Given the description of an element on the screen output the (x, y) to click on. 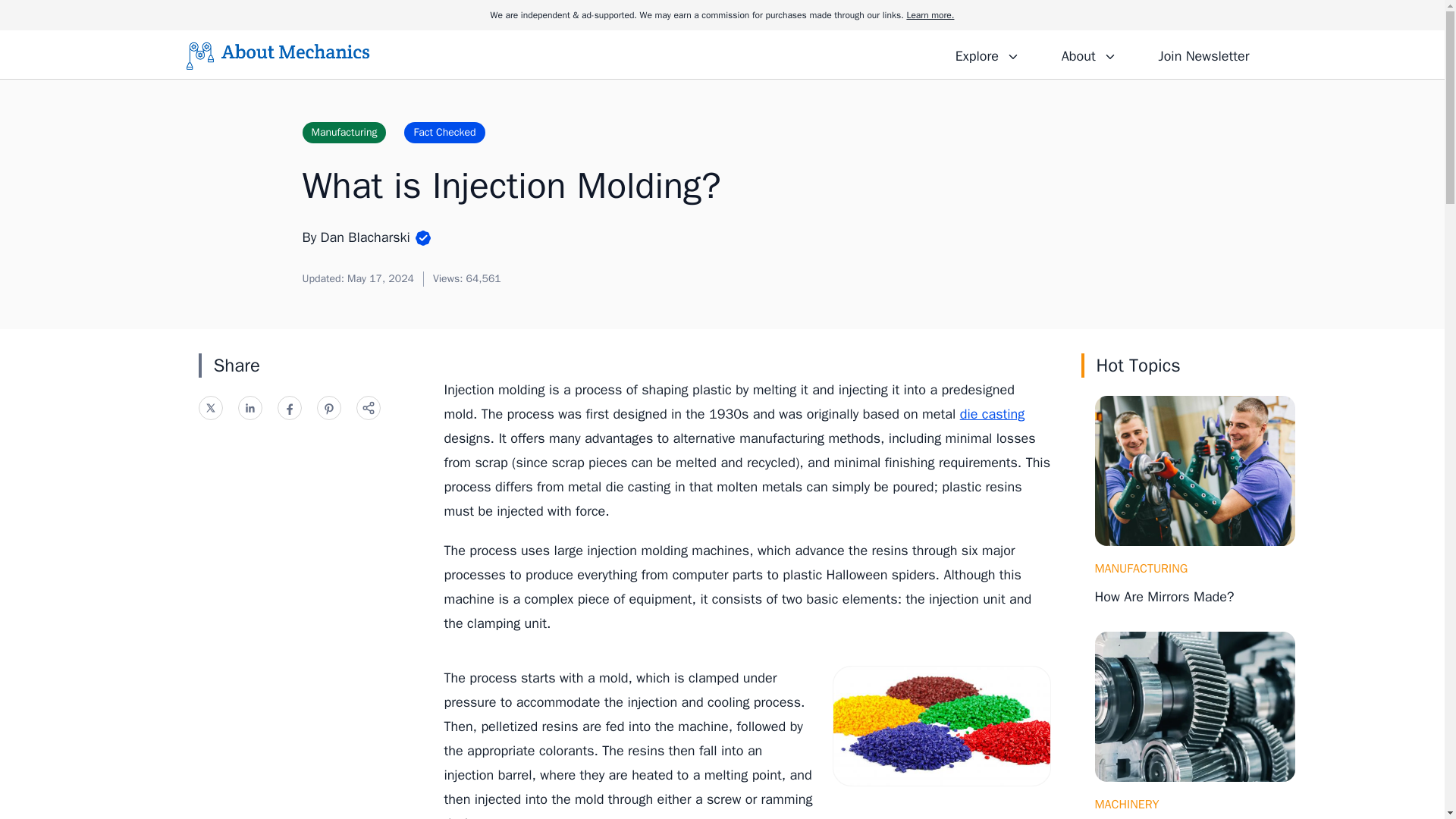
Learn more. (929, 15)
Manufacturing (343, 132)
Explore (986, 54)
Fact Checked (444, 132)
About (1088, 54)
Join Newsletter (1202, 54)
